Given the description of an element on the screen output the (x, y) to click on. 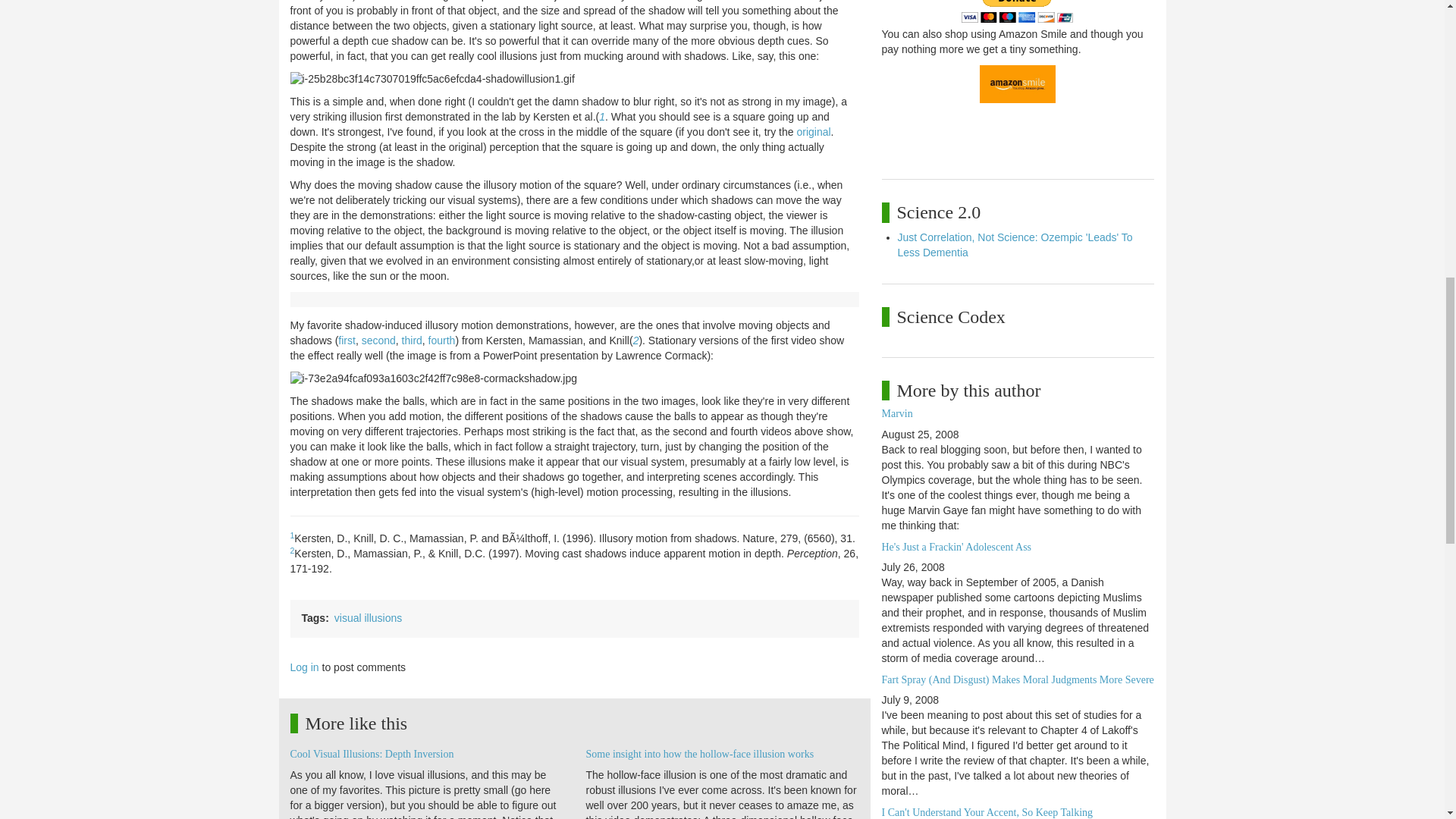
fourth (441, 340)
original (812, 132)
third (411, 340)
Cool Visual Illusions: Depth Inversion (370, 754)
Log in (303, 666)
first (346, 340)
PayPal - The safer, easier way to pay online! (1016, 11)
visual illusions (367, 617)
Some insight into how the hollow-face illusion works (699, 754)
second (378, 340)
